Given the description of an element on the screen output the (x, y) to click on. 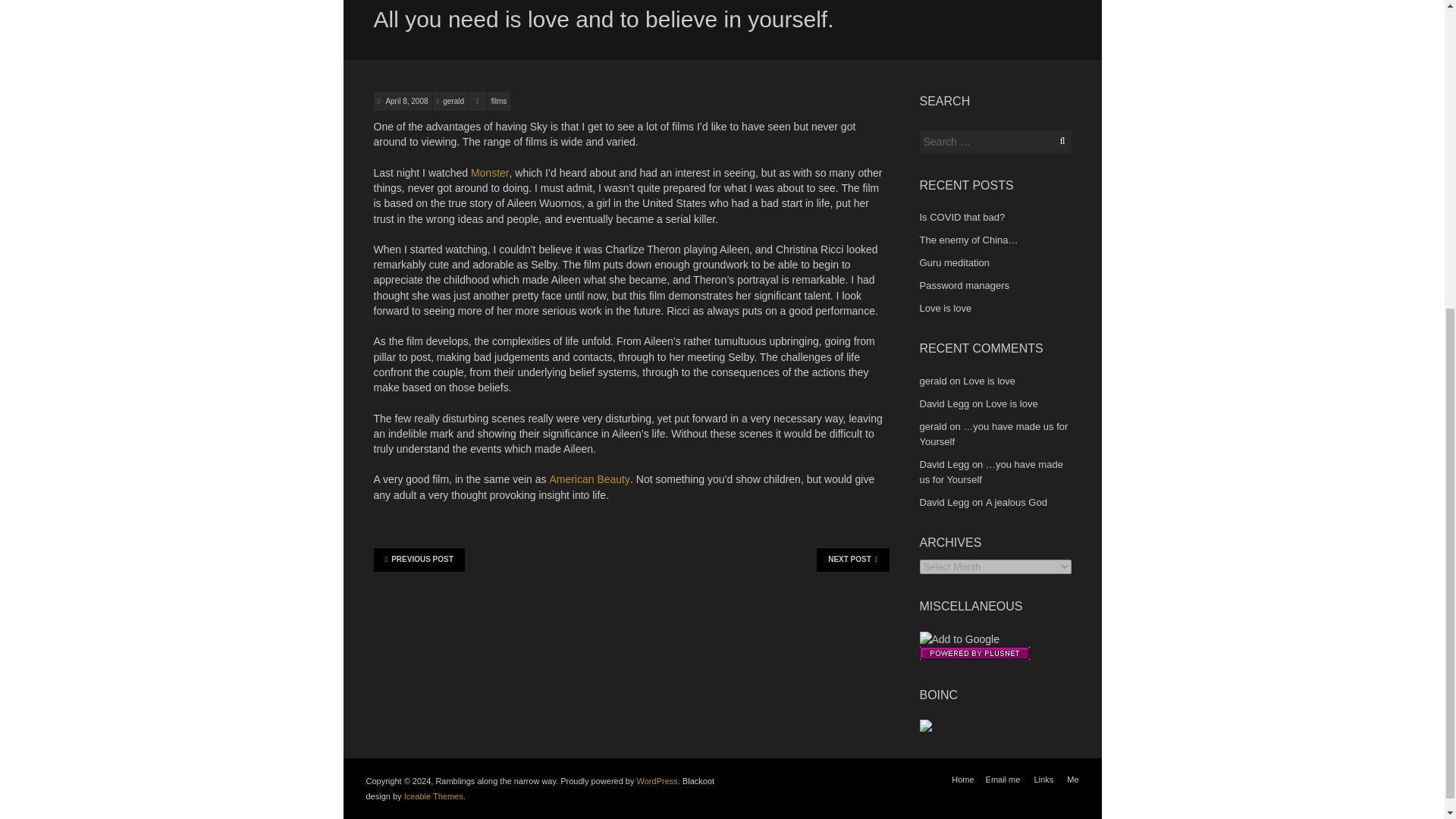
Free and Premium WordPress Themes (433, 795)
Love is love (1011, 403)
View all posts by gerald (453, 101)
All you need is love and to believe in yourself. (406, 101)
NEXT POST (852, 558)
gerald (932, 380)
Home (963, 778)
Guru meditation (954, 262)
Monster (489, 173)
Category (477, 100)
